Given the description of an element on the screen output the (x, y) to click on. 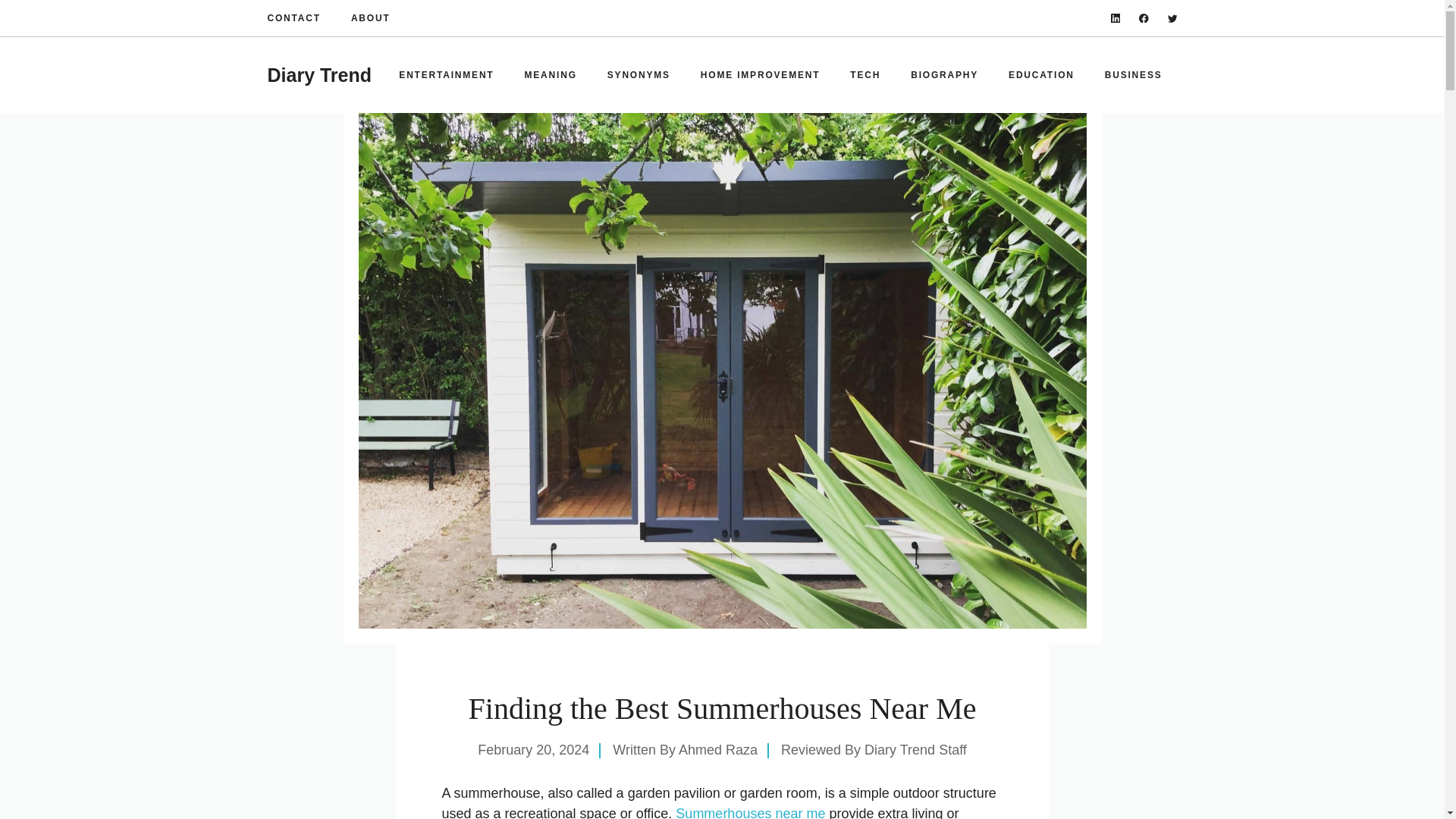
HOME IMPROVEMENT (759, 74)
CONTACT (293, 18)
ENTERTAINMENT (446, 74)
MEANING (550, 74)
TECH (864, 74)
ABOUT (370, 18)
EDUCATION (1040, 74)
SYNONYMS (638, 74)
Summerhouses near me (750, 812)
BUSINESS (1133, 74)
Diary Trend (318, 74)
BIOGRAPHY (943, 74)
